Given the description of an element on the screen output the (x, y) to click on. 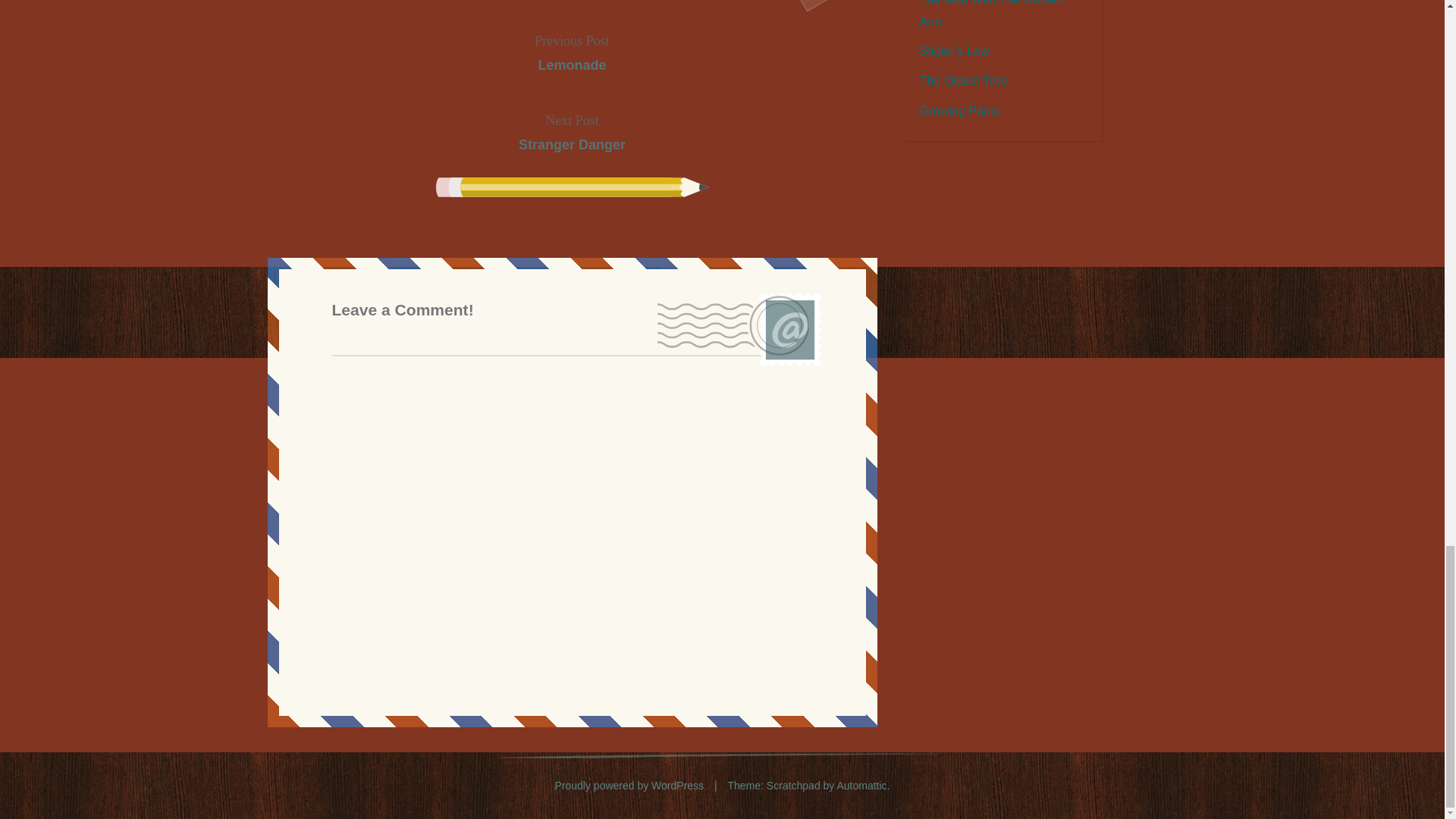
Comment Form (572, 133)
